Given the description of an element on the screen output the (x, y) to click on. 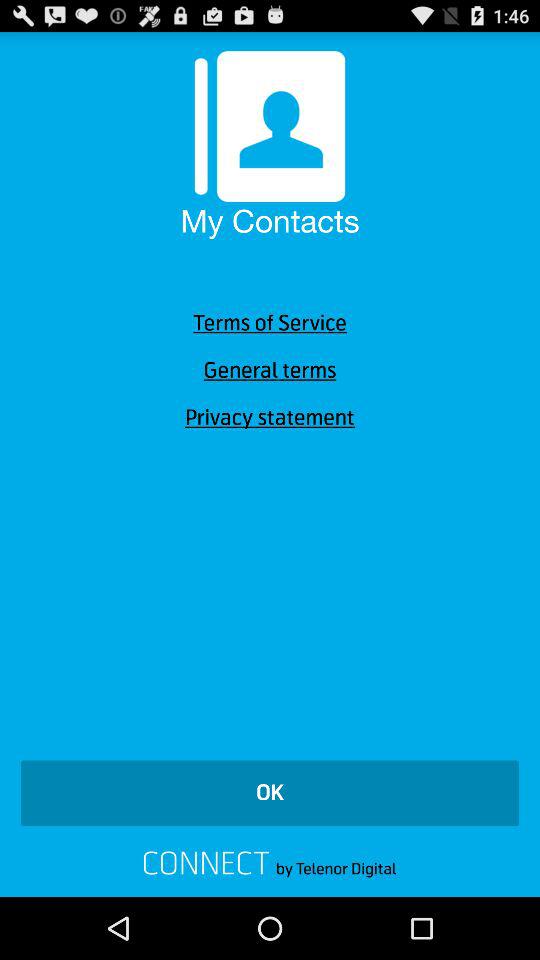
press general terms (270, 370)
